Given the description of an element on the screen output the (x, y) to click on. 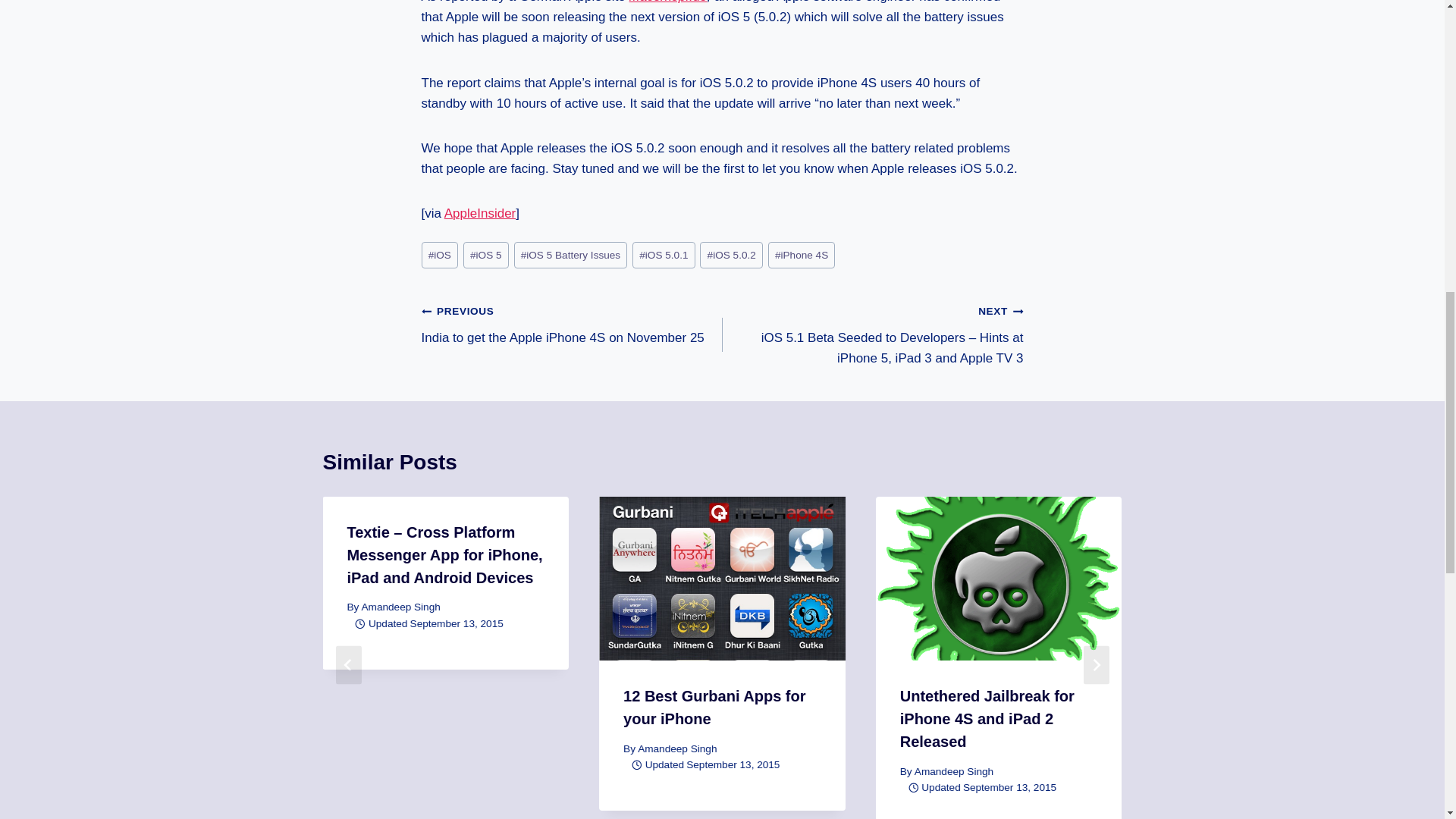
iOS 5 Battery Issues (570, 254)
iPhone 4S (801, 254)
iOS 5.0.2 (731, 254)
iOS 5.0.1 (663, 254)
iOS 5 (485, 254)
iOS (440, 254)
